Given the description of an element on the screen output the (x, y) to click on. 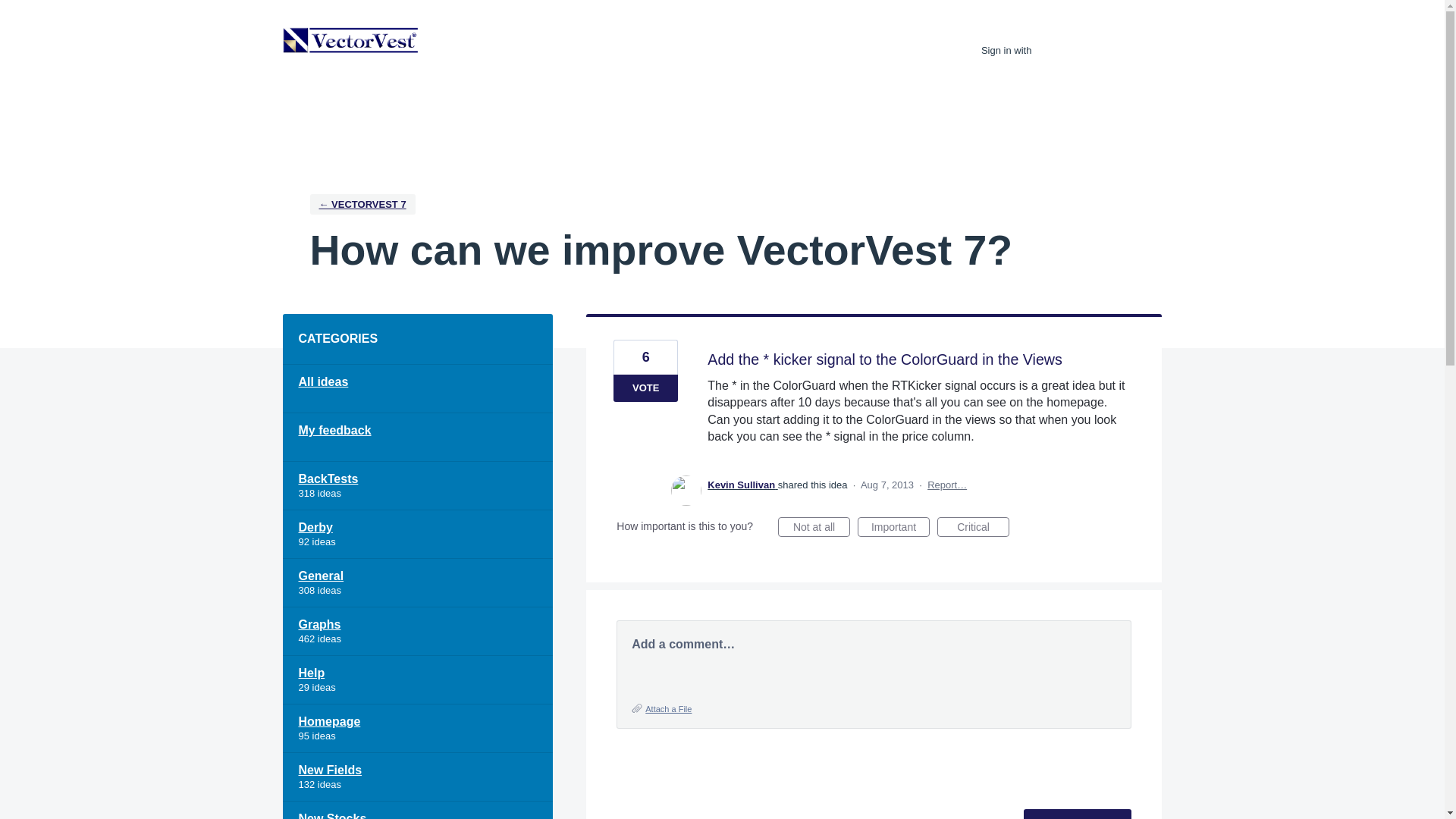
General (417, 582)
View all ideas in category New Stocks (417, 810)
All ideas (417, 388)
Graphs (417, 631)
BackTests (417, 485)
View all ideas in category Homepage (417, 728)
Help (417, 680)
View all ideas in category Help (417, 680)
Derby (417, 534)
My feedback (417, 437)
View all ideas in category General (417, 582)
New Fields (417, 776)
Homepage (417, 728)
New Stocks (417, 810)
Skip to content (12, 12)
